Given the description of an element on the screen output the (x, y) to click on. 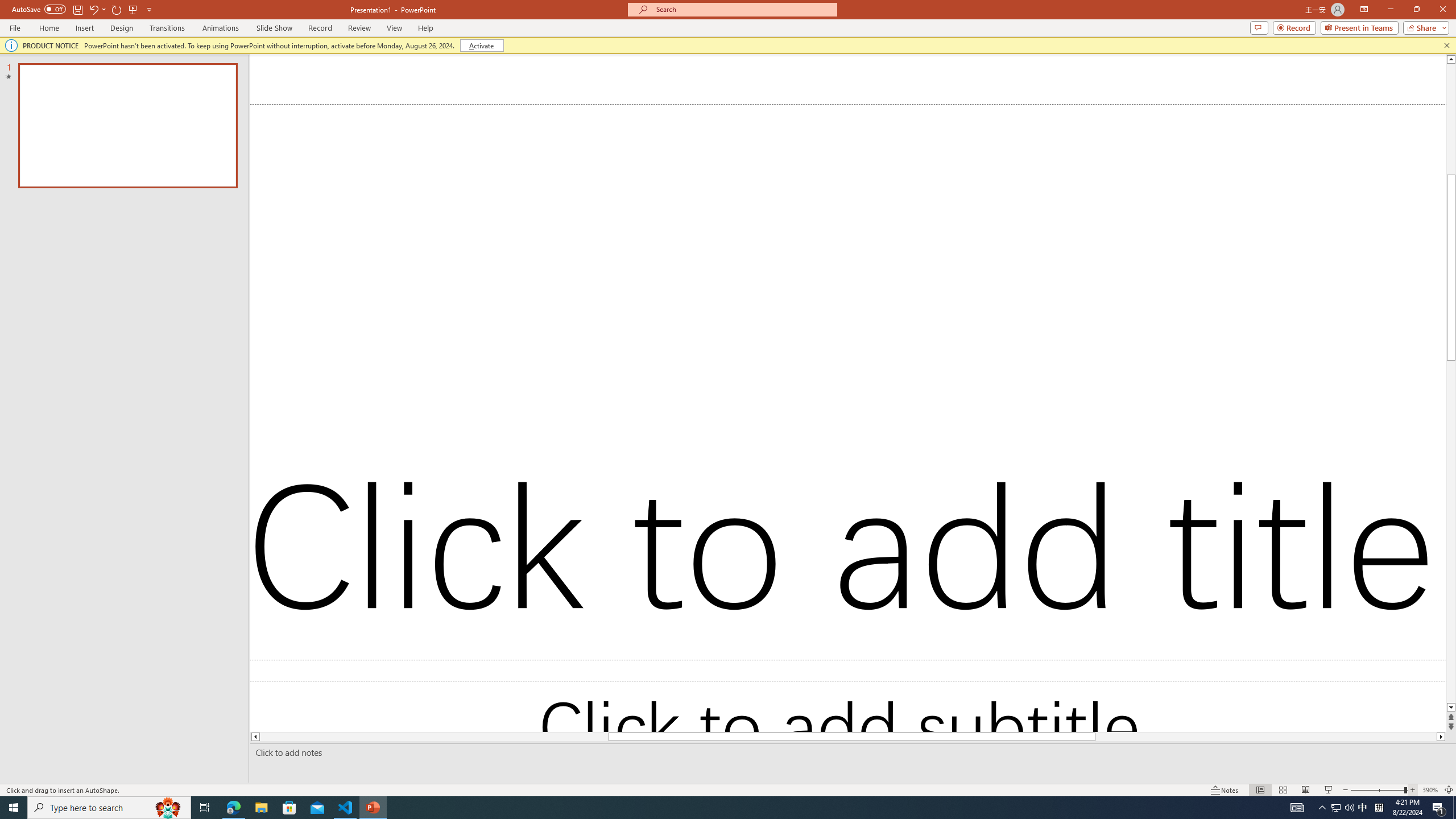
Ribbon Display Options (1364, 9)
Slide Sorter (1282, 790)
Animations (220, 28)
Close (1442, 9)
Transitions (167, 28)
Notes  (1225, 790)
File Tab (15, 27)
Home (48, 28)
Design (122, 28)
Help (425, 28)
